Given the description of an element on the screen output the (x, y) to click on. 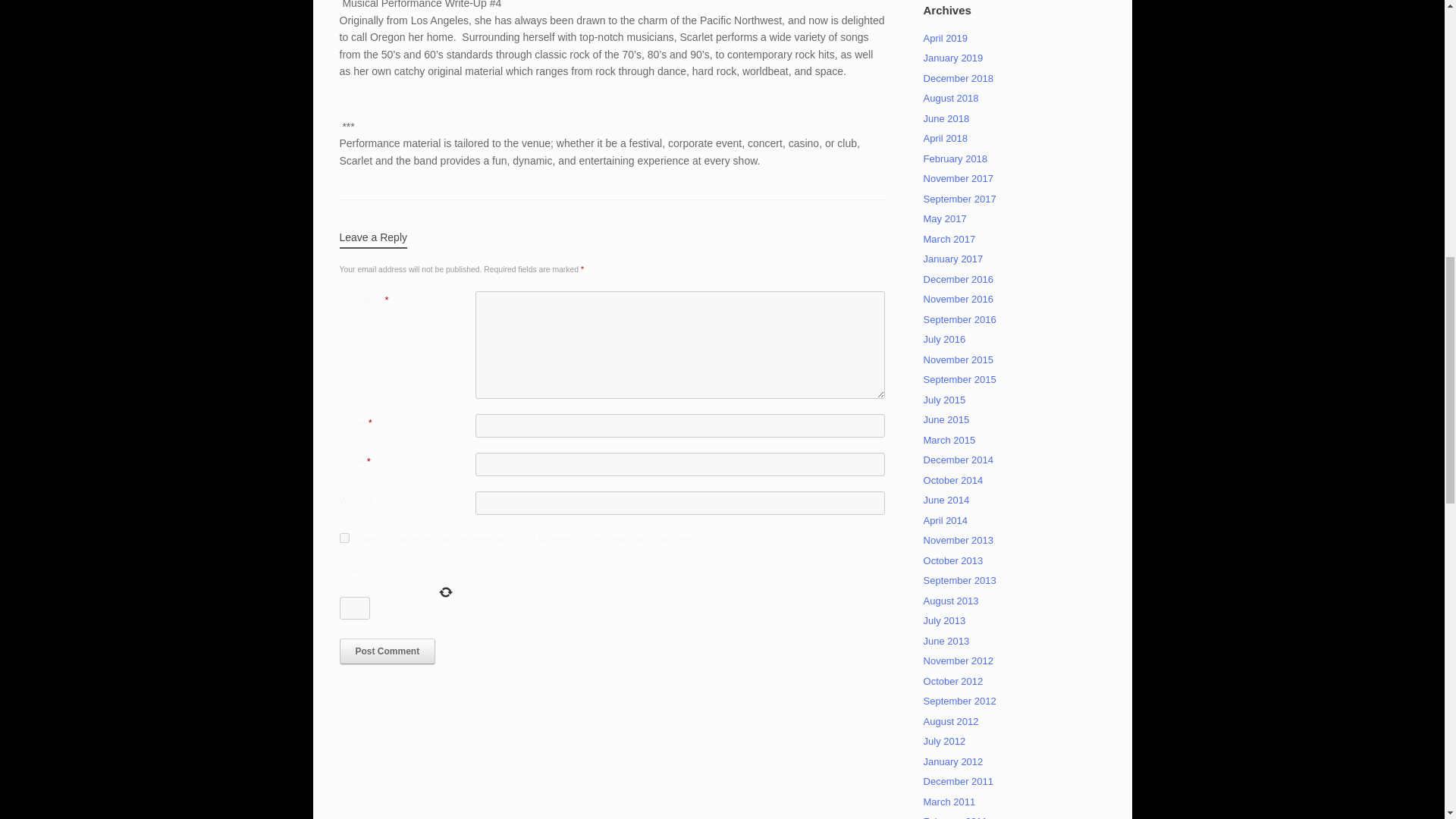
Post Comment (387, 651)
Post Comment (387, 651)
yes (344, 537)
